Given the description of an element on the screen output the (x, y) to click on. 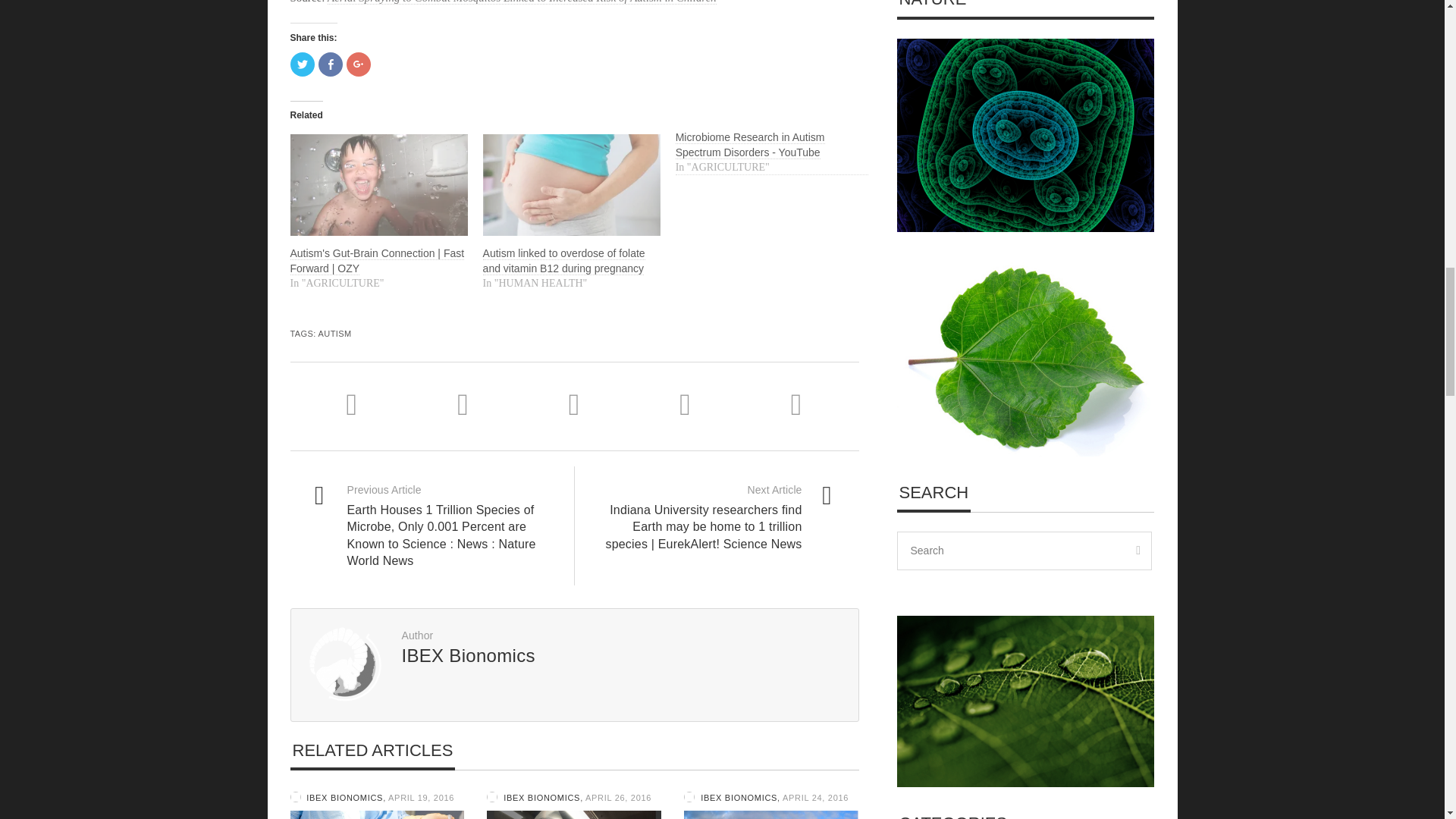
Click to share on Twitter (301, 64)
AUTISM (335, 333)
Microbiome Research in Autism Spectrum Disorders - YouTube (750, 144)
Search (1023, 550)
Click to share on Facebook (330, 64)
